Given the description of an element on the screen output the (x, y) to click on. 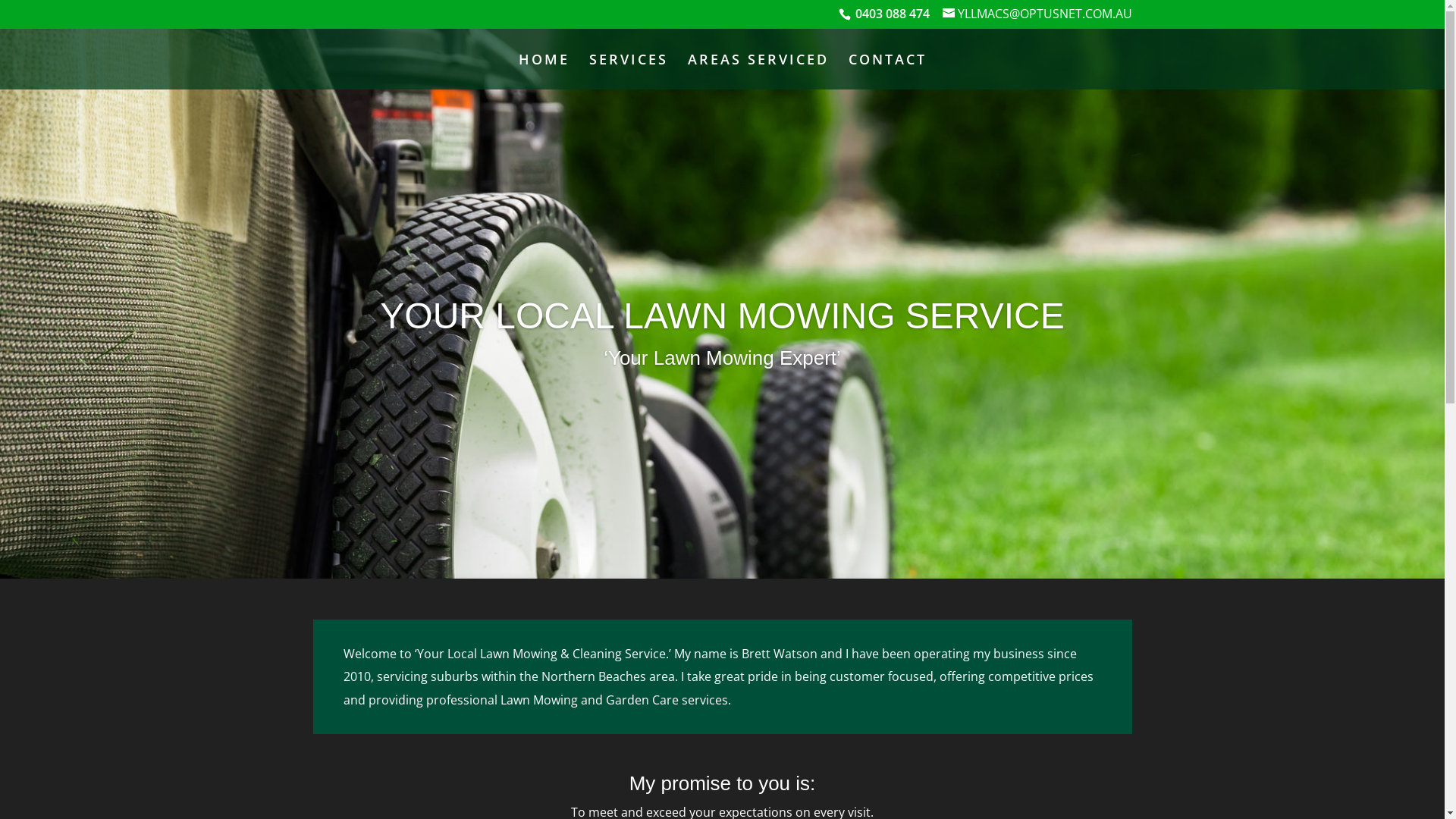
CONTACT Element type: text (886, 71)
SERVICES Element type: text (627, 71)
YLLMACS@OPTUSNET.COM.AU Element type: text (1036, 13)
AREAS SERVICED Element type: text (757, 71)
HOME Element type: text (543, 71)
